Given the description of an element on the screen output the (x, y) to click on. 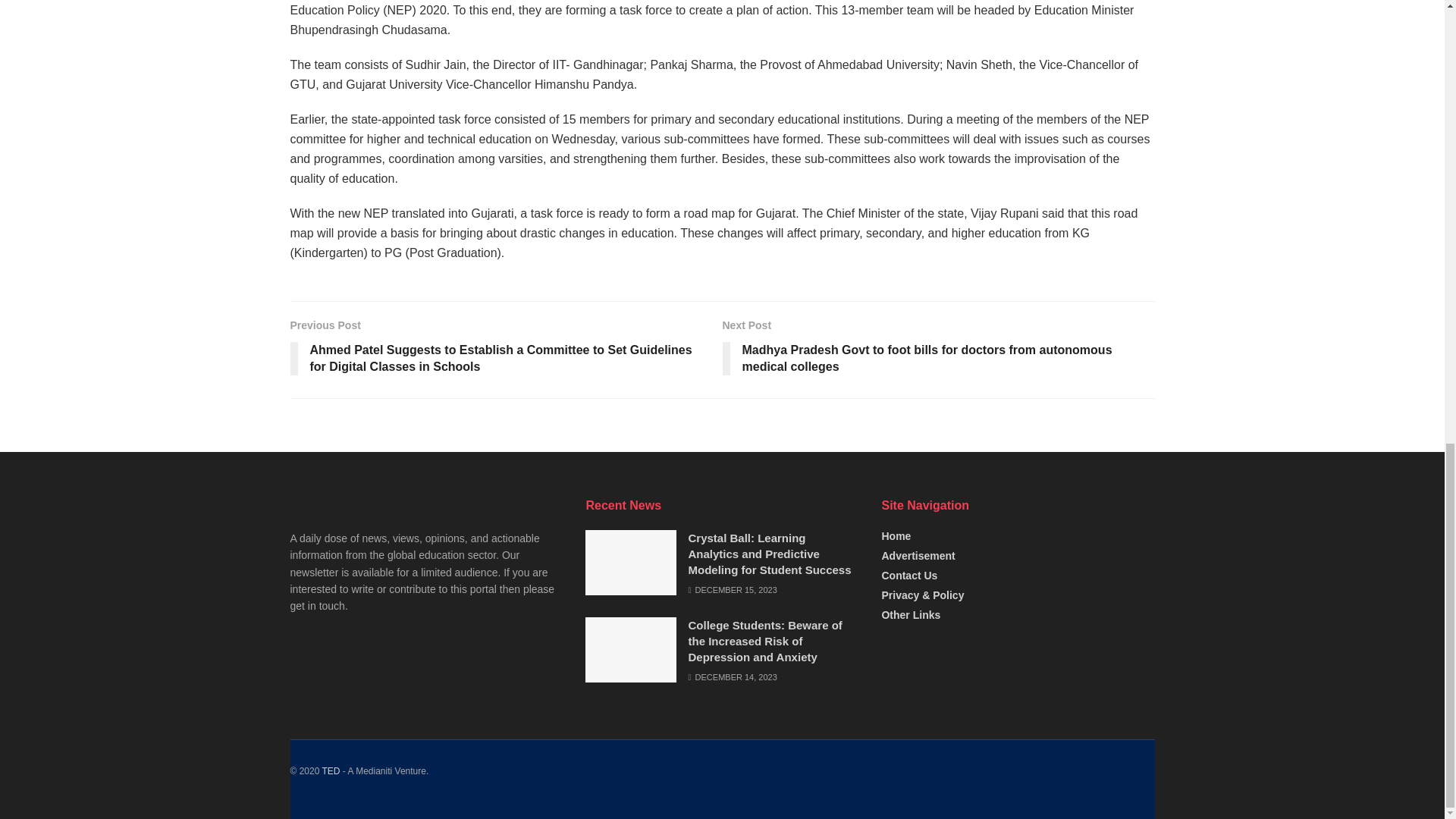
A Medianiti Venture (330, 770)
